Given the description of an element on the screen output the (x, y) to click on. 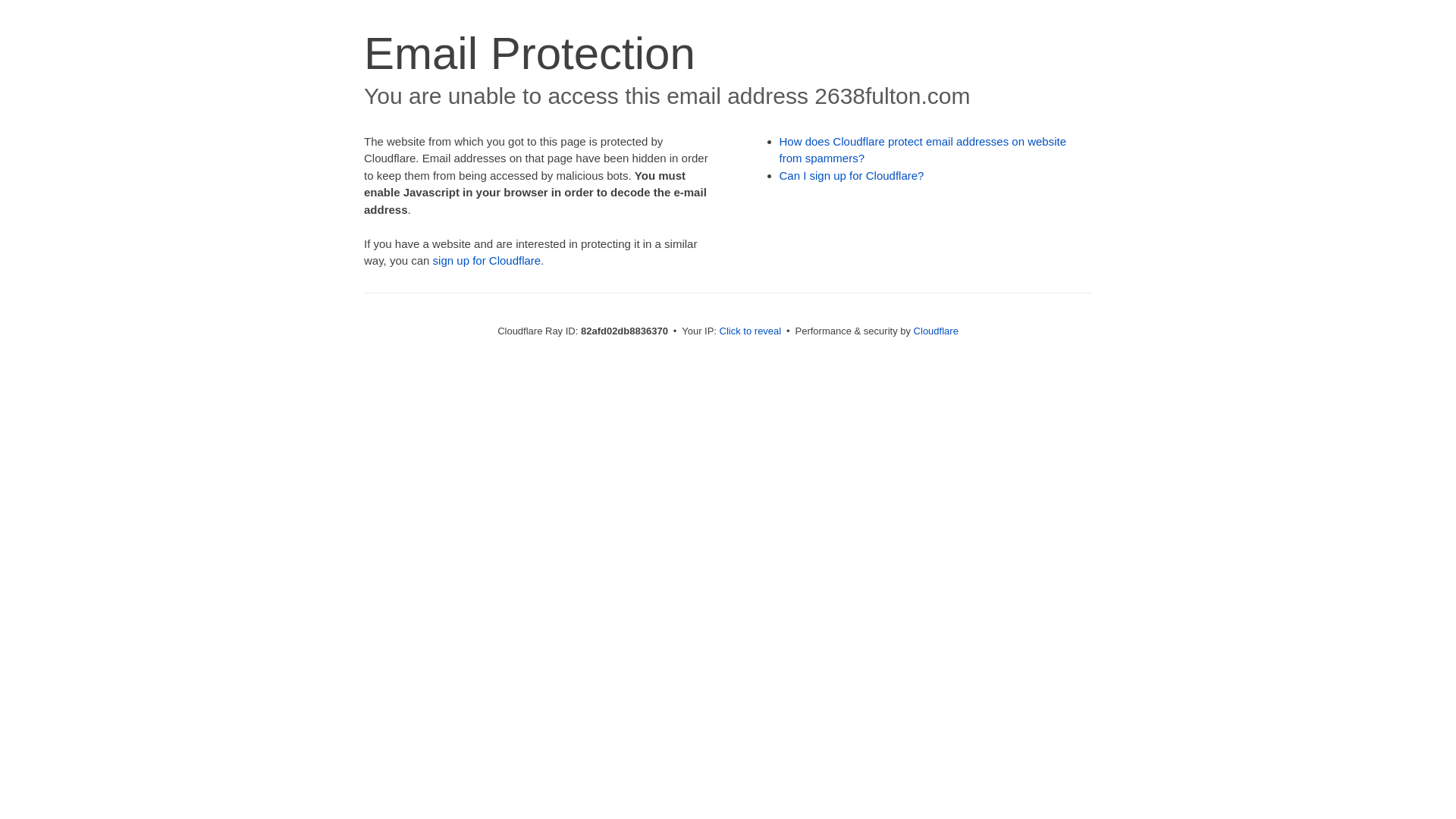
Cloudflare Element type: text (935, 330)
sign up for Cloudflare Element type: text (487, 260)
Can I sign up for Cloudflare? Element type: text (851, 175)
Click to reveal Element type: text (750, 330)
